Given the description of an element on the screen output the (x, y) to click on. 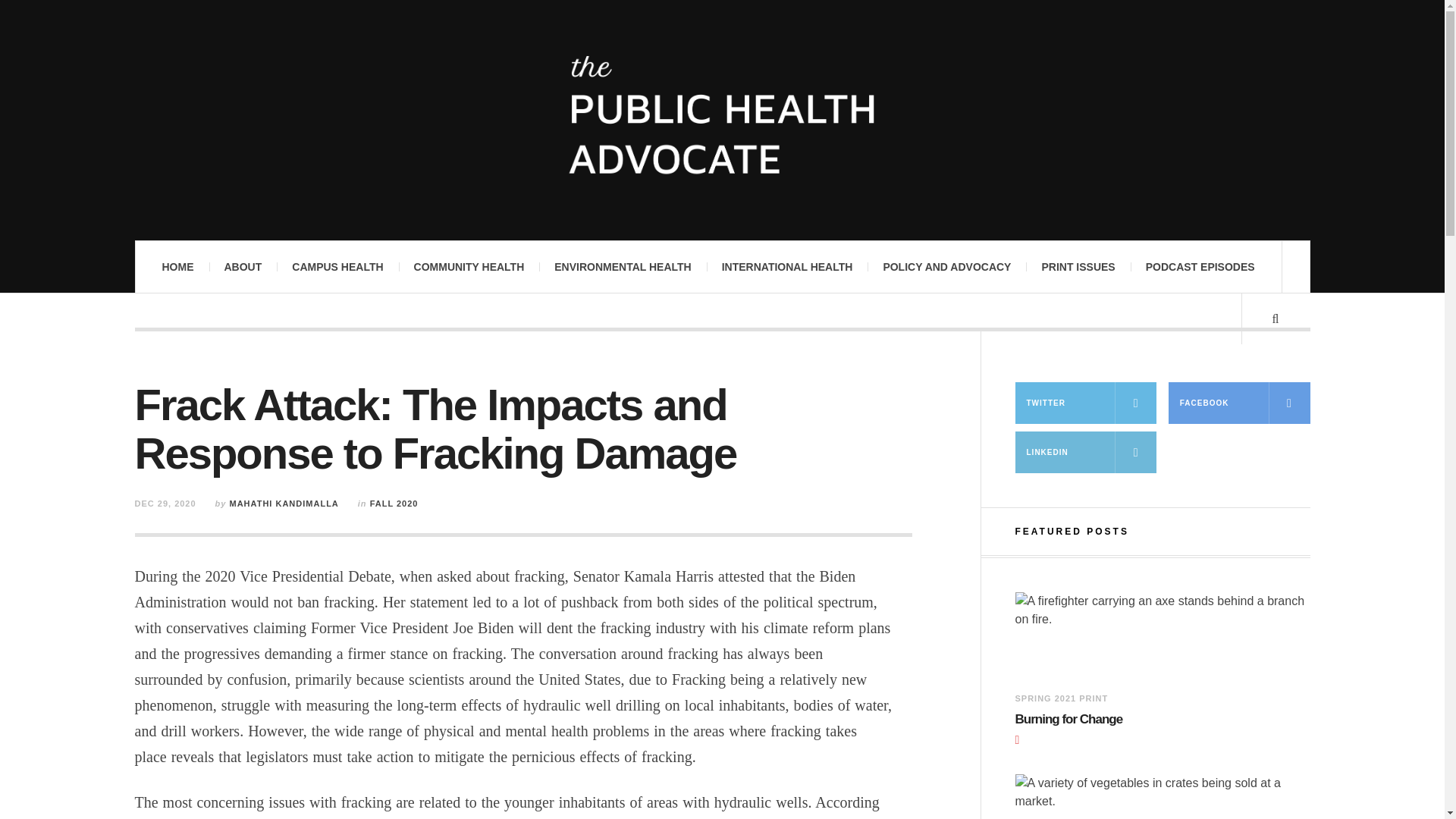
ENVIRONMENTAL HEALTH (622, 266)
PRINT ISSUES (1077, 266)
CAMPUS HEALTH (336, 266)
TWITTER (1085, 403)
View all posts in Fall 2020 (394, 502)
Burning for Change (1113, 719)
FALL 2020 (394, 502)
LINKEDIN (1085, 452)
PODCAST EPISODES (1200, 266)
FACEBOOK (1239, 403)
